Given the description of an element on the screen output the (x, y) to click on. 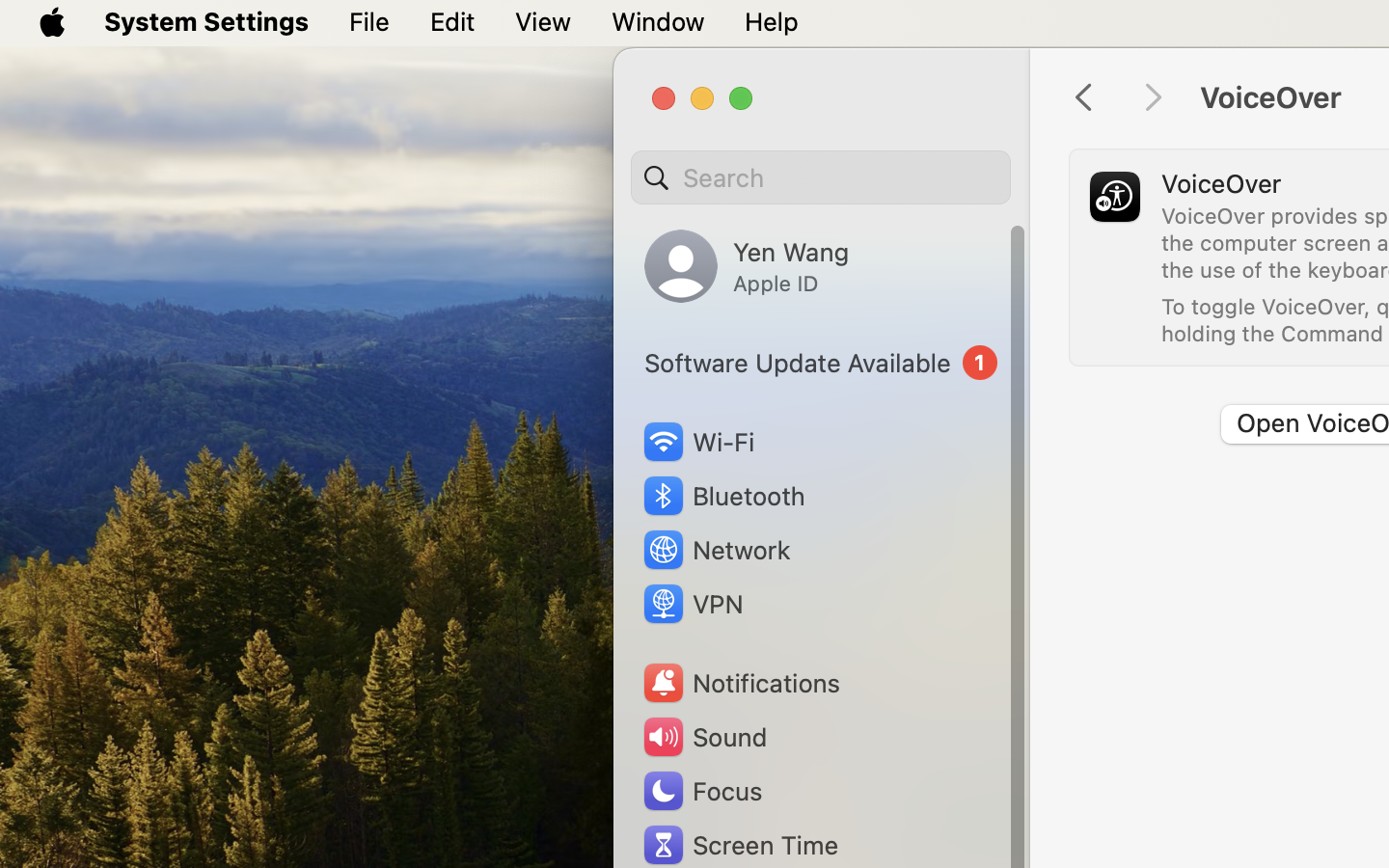
Sound Element type: AXStaticText (703, 736)
